Given the description of an element on the screen output the (x, y) to click on. 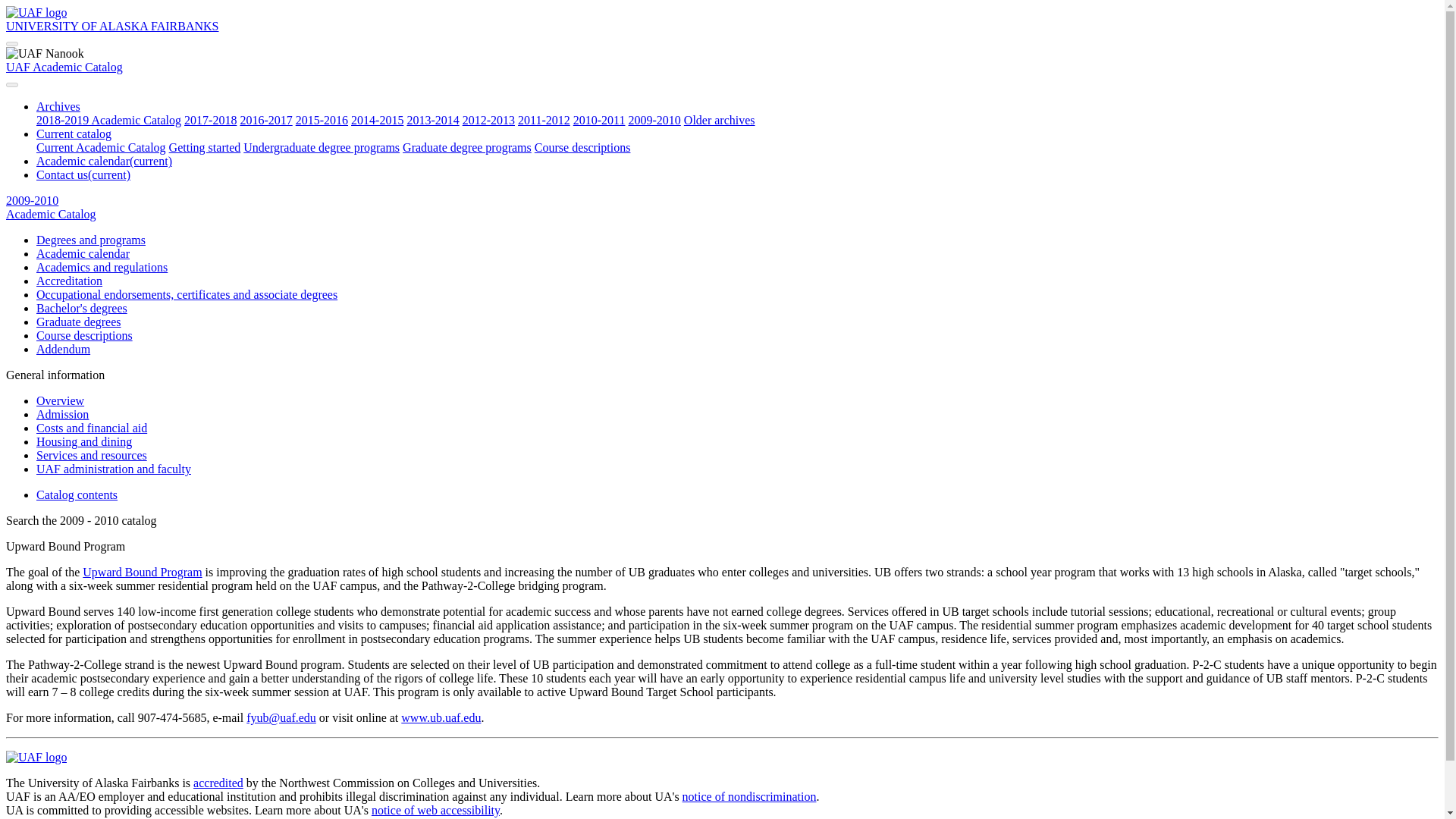
2016-2017 (266, 119)
Undergraduate degree programs (320, 146)
Getting started (204, 146)
2009-2010 (31, 200)
Accreditation (68, 280)
Course descriptions (582, 146)
Graduate degree programs (467, 146)
2018-2019 Academic Catalog (108, 119)
Admission (62, 413)
Academic Catalog (50, 214)
